Given the description of an element on the screen output the (x, y) to click on. 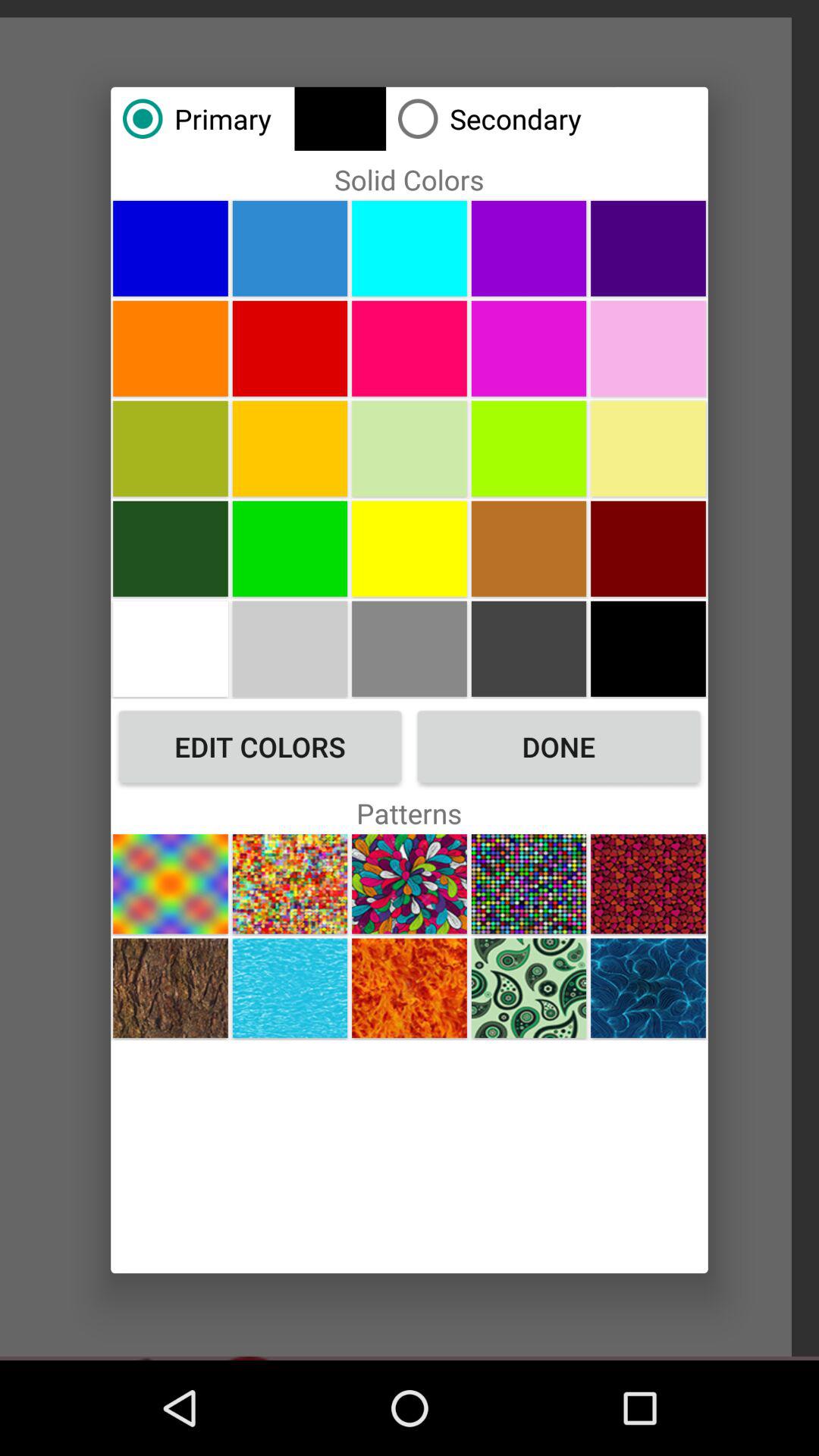
press the item below the done item (647, 883)
